Given the description of an element on the screen output the (x, y) to click on. 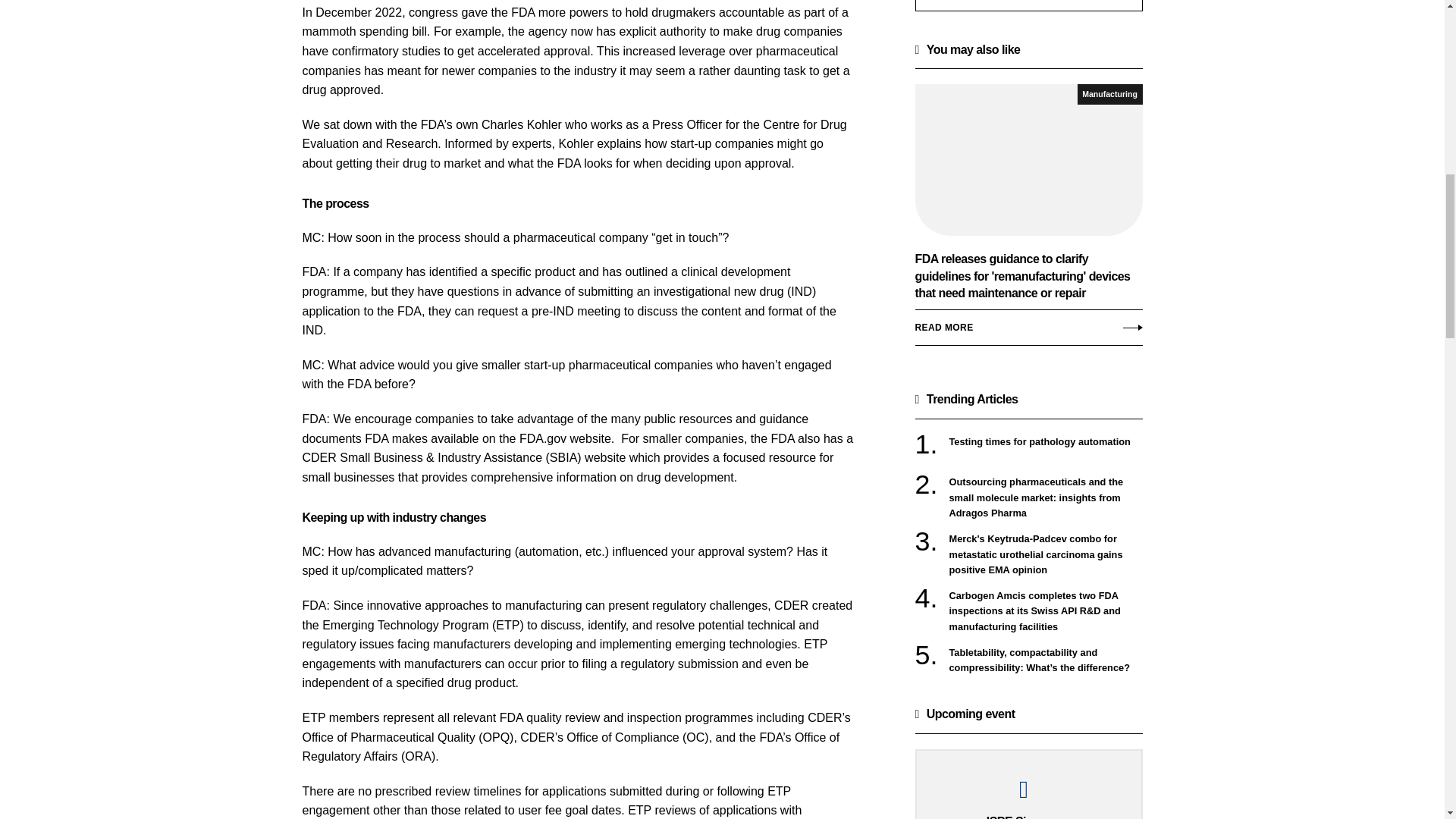
Manufacturing (1109, 94)
Testing times for pathology automation (1045, 441)
